Given the description of an element on the screen output the (x, y) to click on. 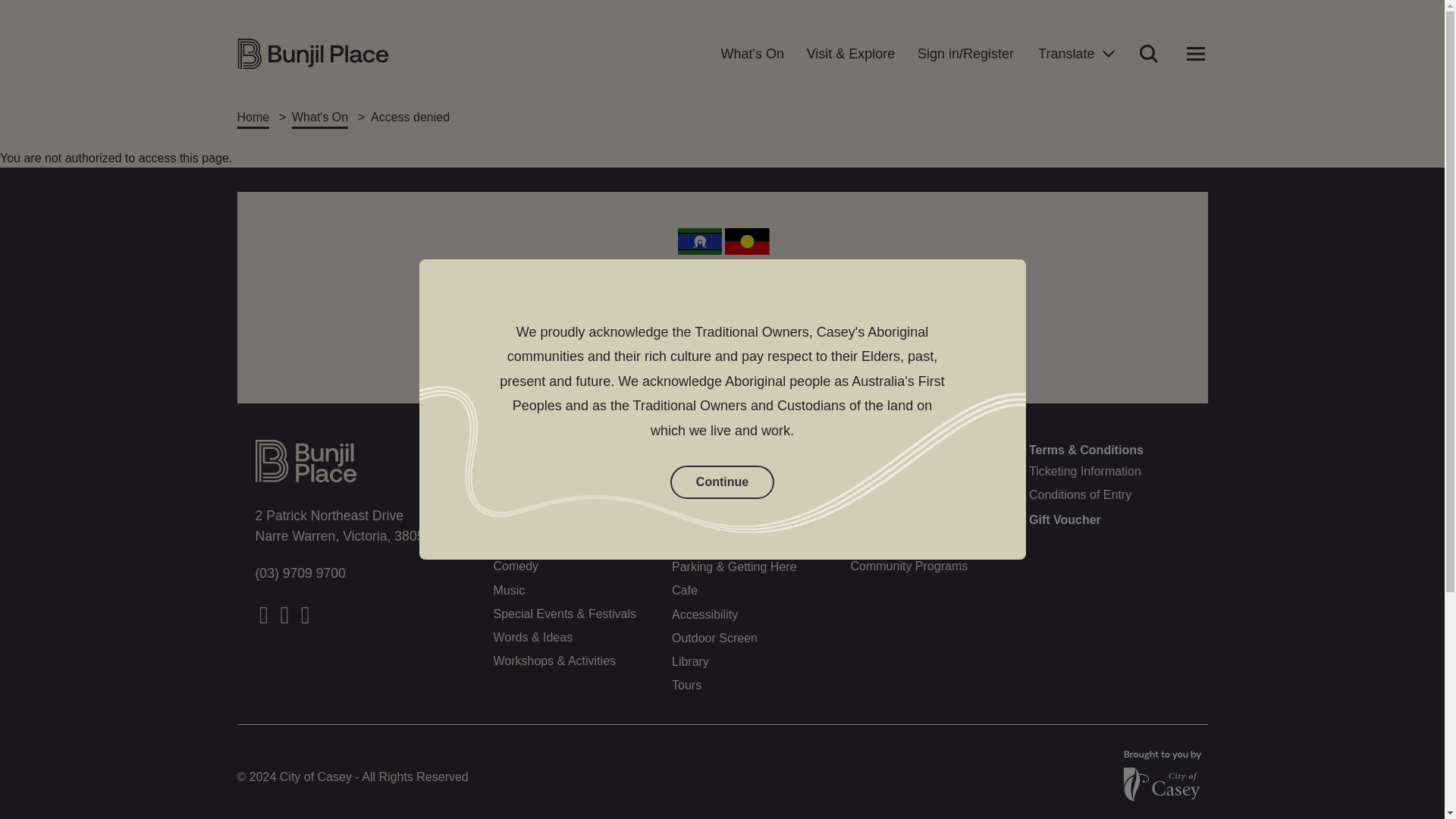
Bunjil Place (311, 53)
Community Programs (909, 565)
